Given the description of an element on the screen output the (x, y) to click on. 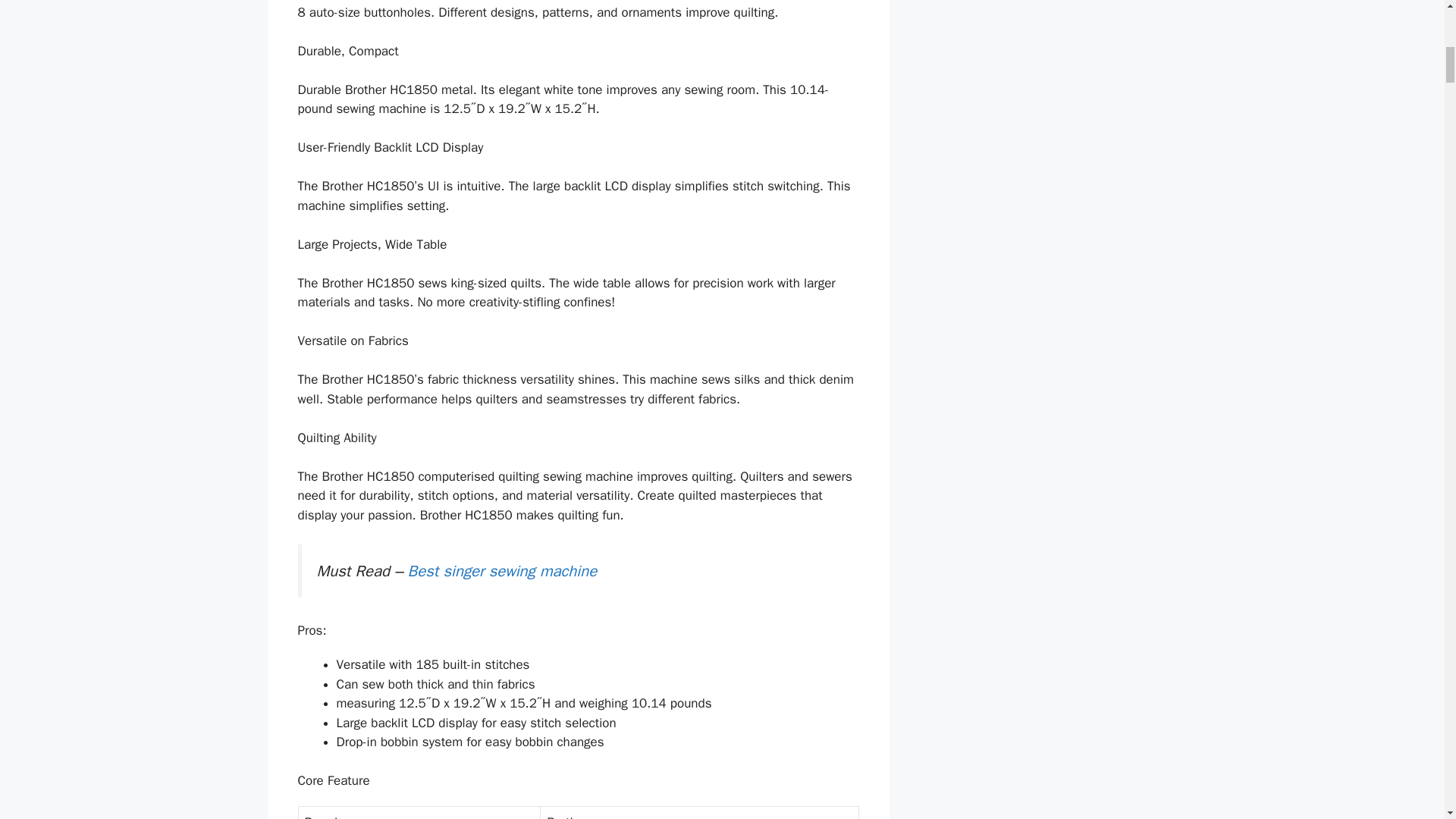
Best singer sewing machine (501, 570)
